Given the description of an element on the screen output the (x, y) to click on. 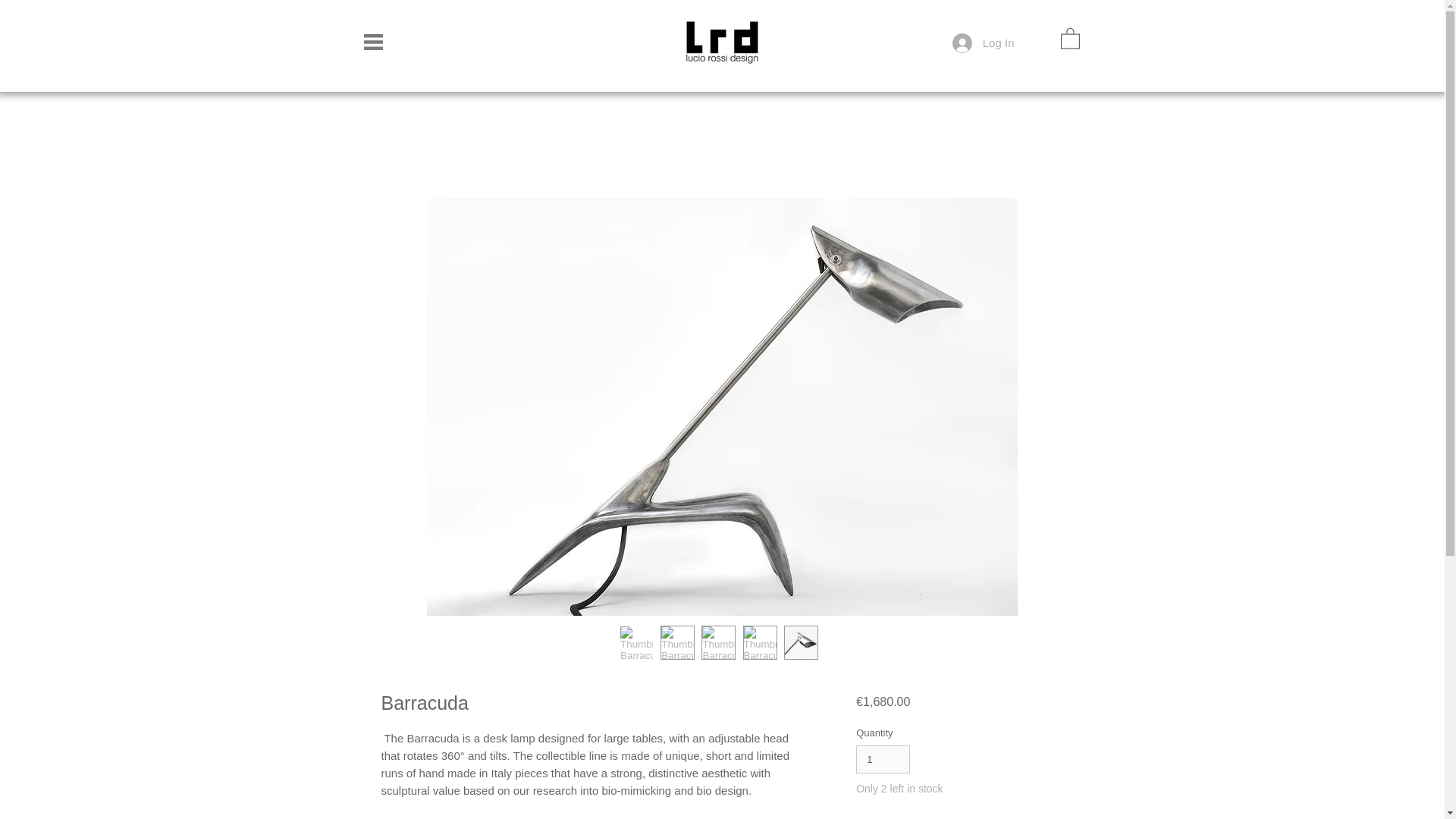
1 (883, 759)
Log In (983, 42)
